Given the description of an element on the screen output the (x, y) to click on. 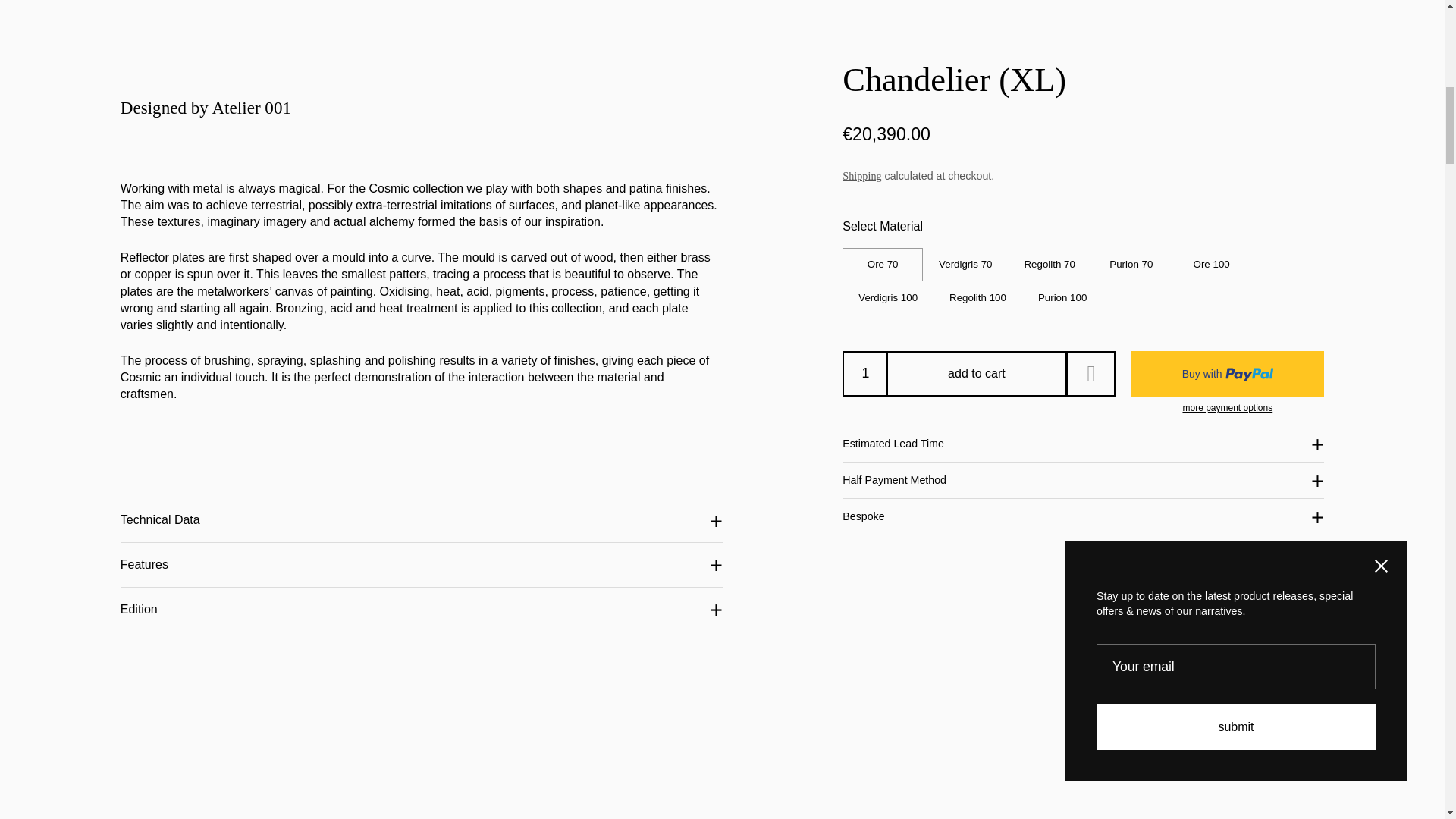
Page 5 (421, 377)
Page 5 (421, 326)
